Given the description of an element on the screen output the (x, y) to click on. 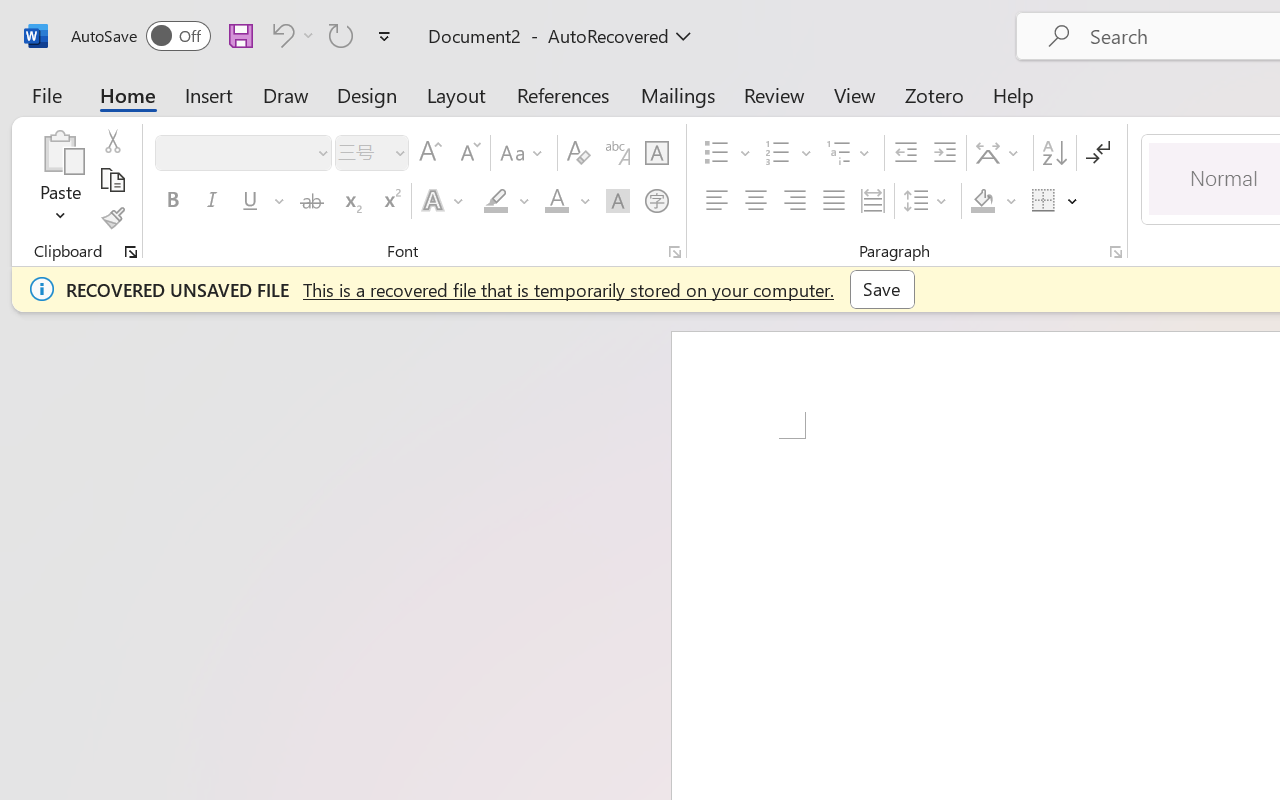
Italic (212, 201)
